Given the description of an element on the screen output the (x, y) to click on. 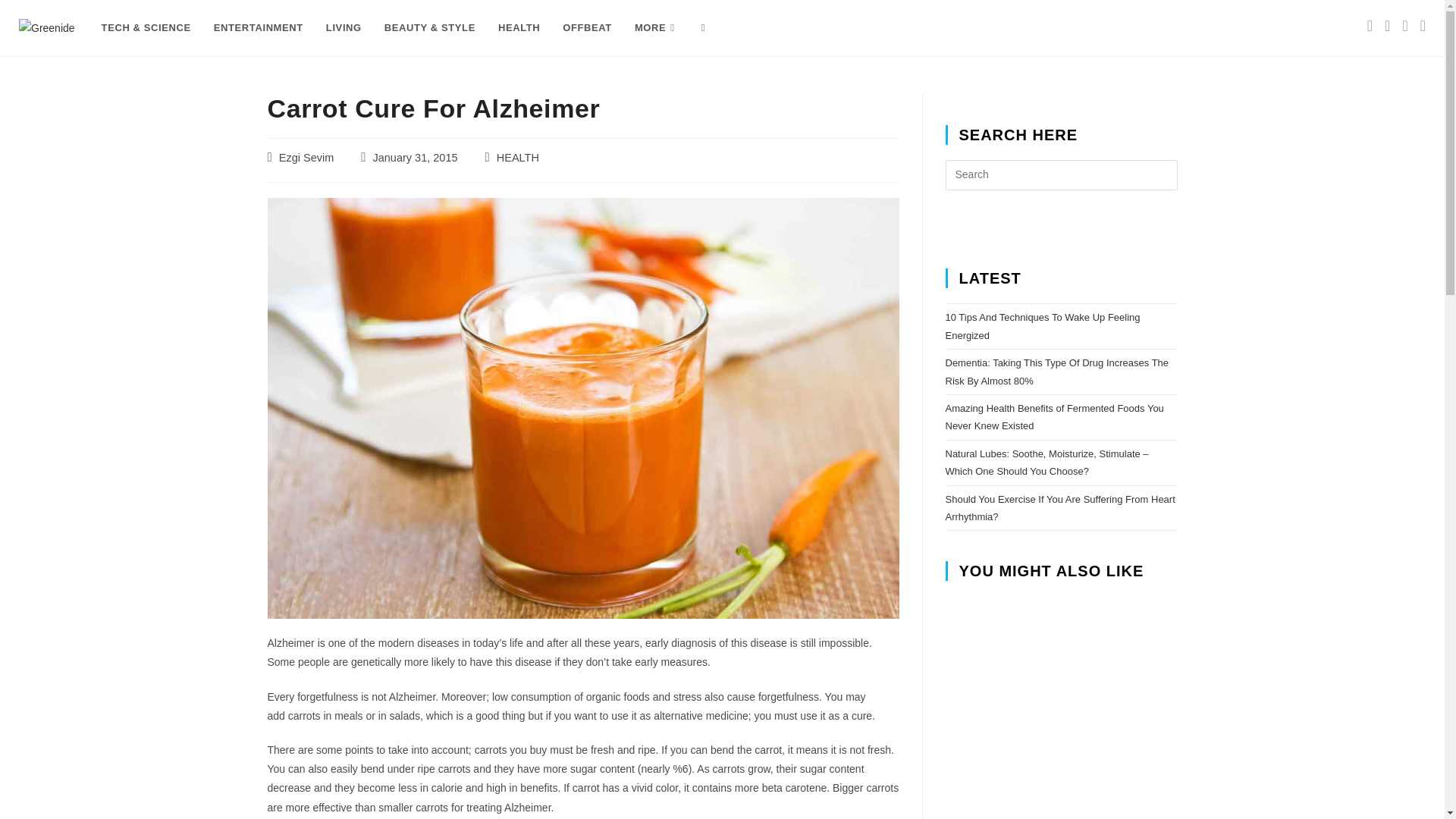
OFFBEAT (587, 28)
HEALTH (517, 157)
Posts by Ezgi Sevim (306, 157)
Ezgi Sevim (306, 157)
LIVING (343, 28)
MORE (656, 28)
